Given the description of an element on the screen output the (x, y) to click on. 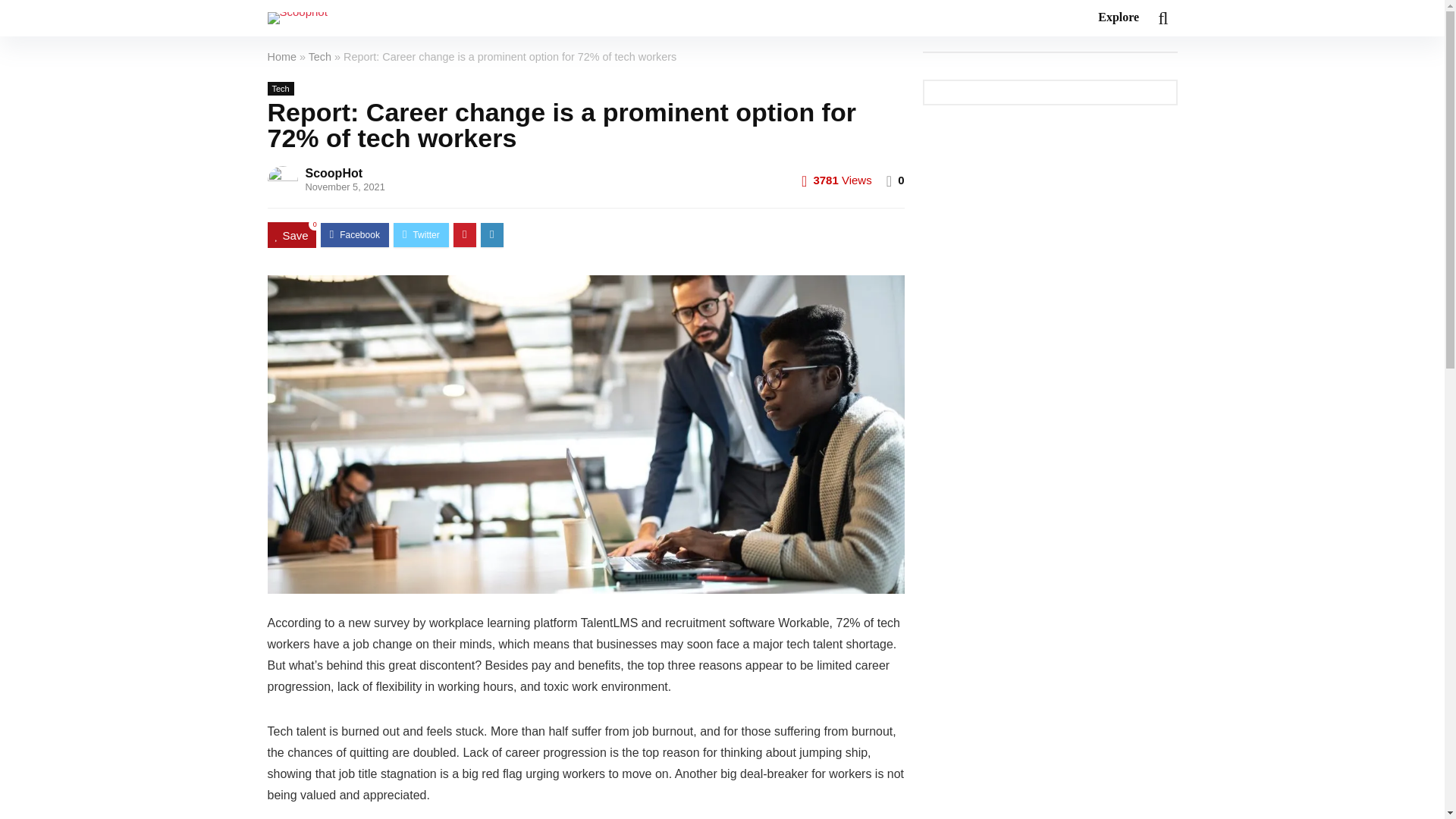
ScoopHot (333, 173)
Home (280, 56)
0 (901, 179)
View all posts in Tech (280, 88)
Tech (319, 56)
Tech (280, 88)
Explore (1117, 18)
